Given the description of an element on the screen output the (x, y) to click on. 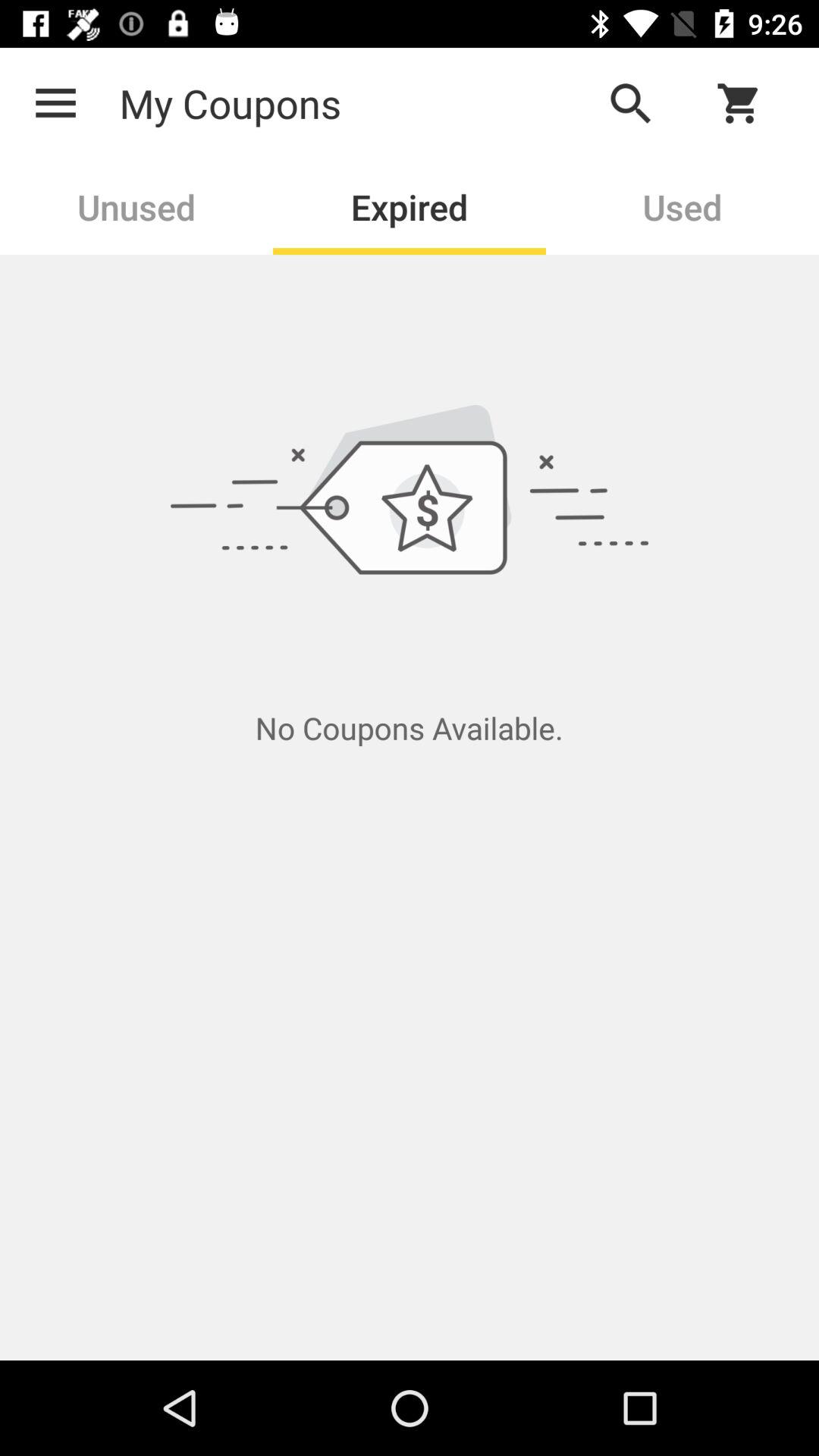
turn on the item next to my coupons icon (630, 103)
